Given the description of an element on the screen output the (x, y) to click on. 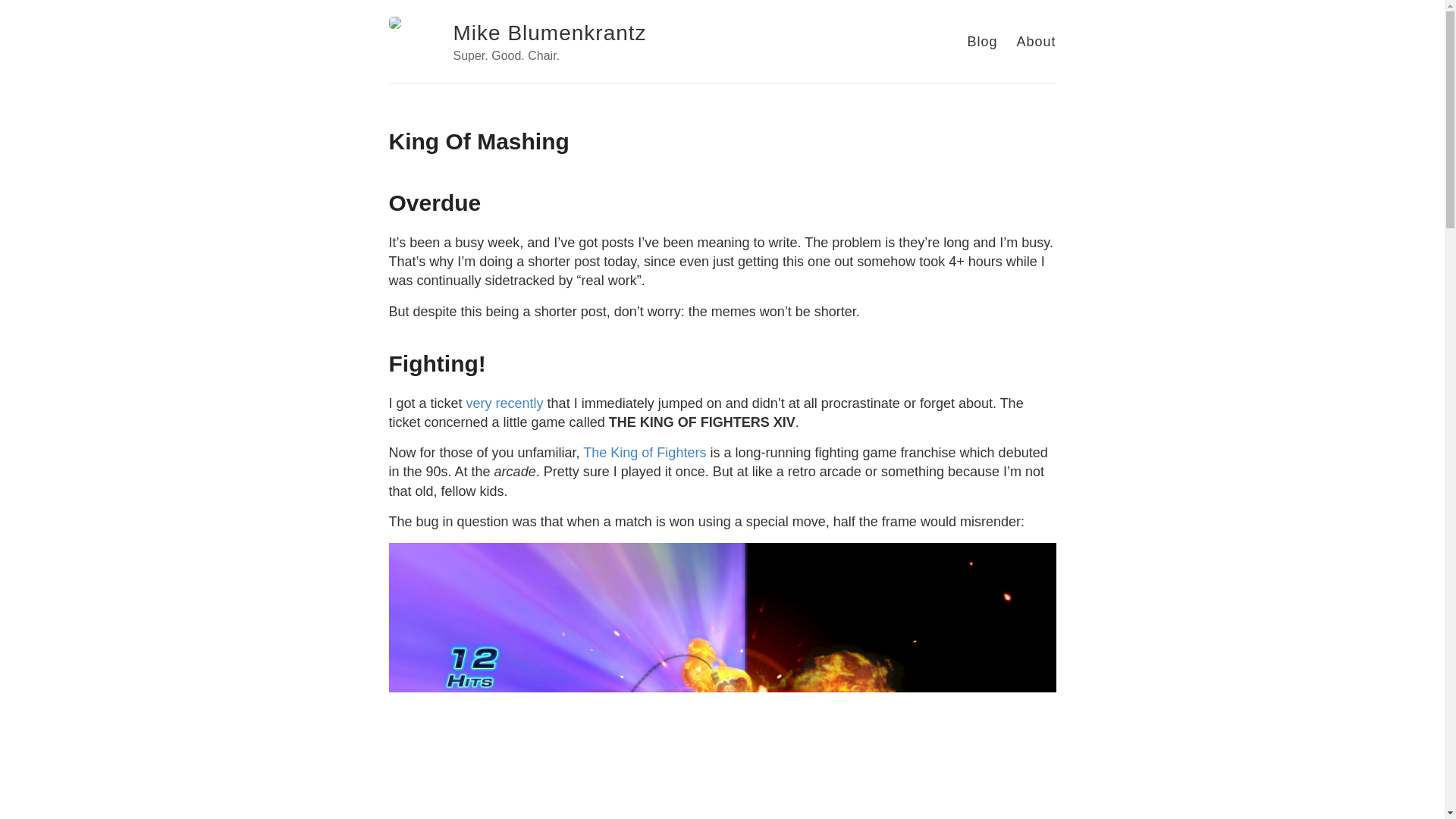
About (1035, 41)
The King of Fighters (644, 452)
Blog (981, 41)
Mike Blumenkrantz (549, 33)
very recently (504, 403)
